Given the description of an element on the screen output the (x, y) to click on. 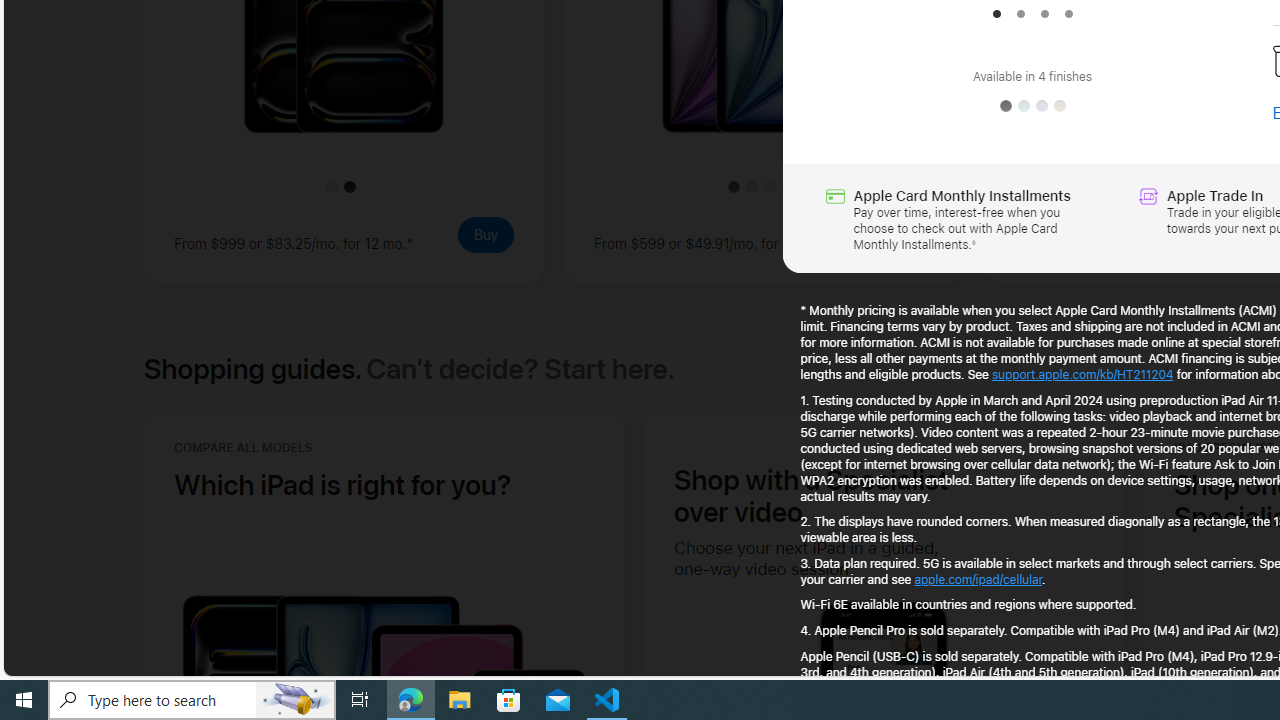
Item 2 (1020, 14)
Blue (1023, 106)
Item 3 (1044, 14)
Item 4 (1067, 14)
Purple (1041, 106)
Space Gray (1005, 106)
Space Gray (1005, 106)
Item 1 (996, 14)
Blue (1023, 106)
support.apple.com/kb/HT211204 (Opens in a new window) (1081, 374)
Purple (1041, 106)
Starlight (1059, 106)
apple.com/ipad/cellular (978, 578)
Starlight (1059, 106)
